Given the description of an element on the screen output the (x, y) to click on. 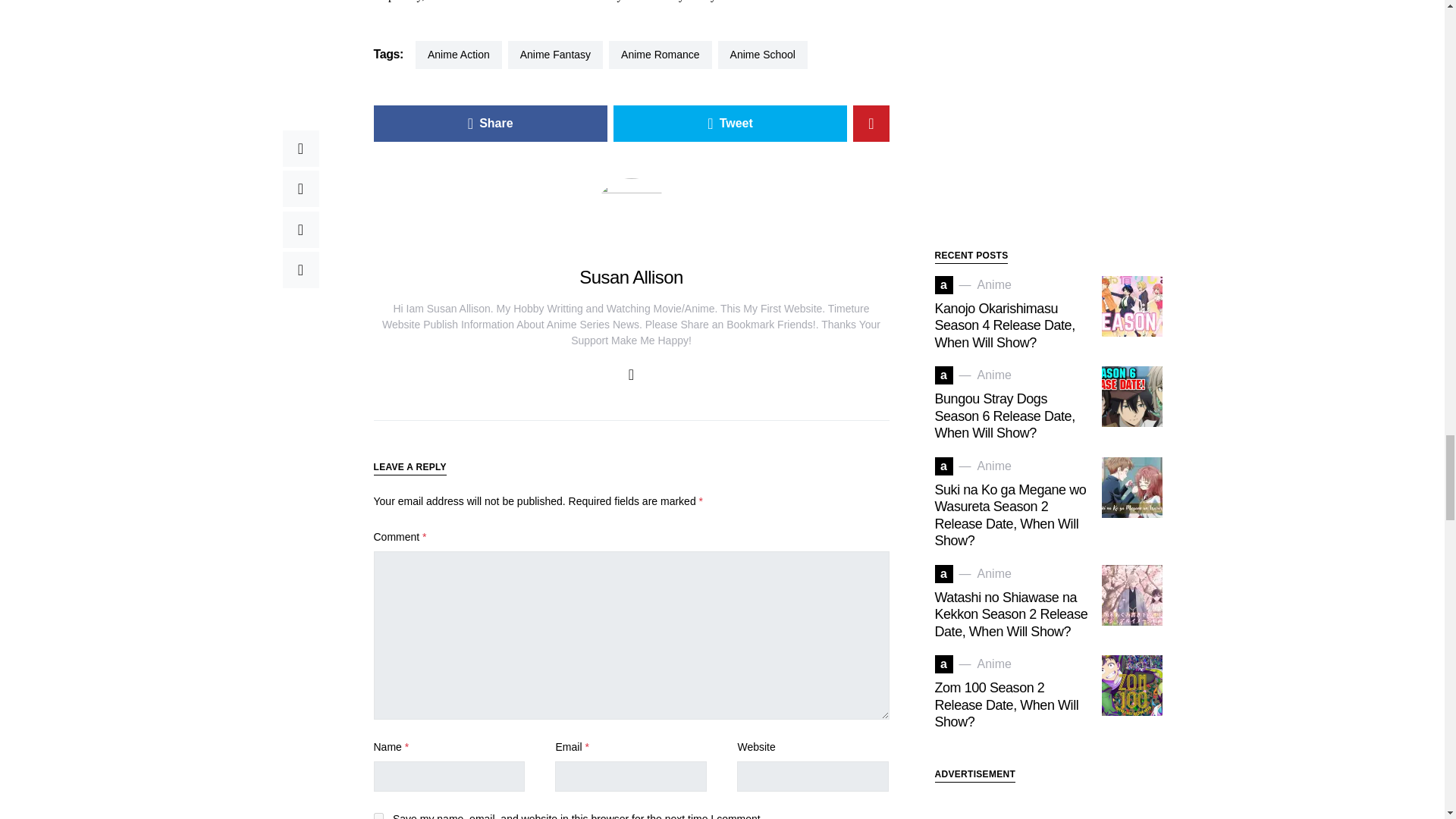
yes (377, 816)
